Given the description of an element on the screen output the (x, y) to click on. 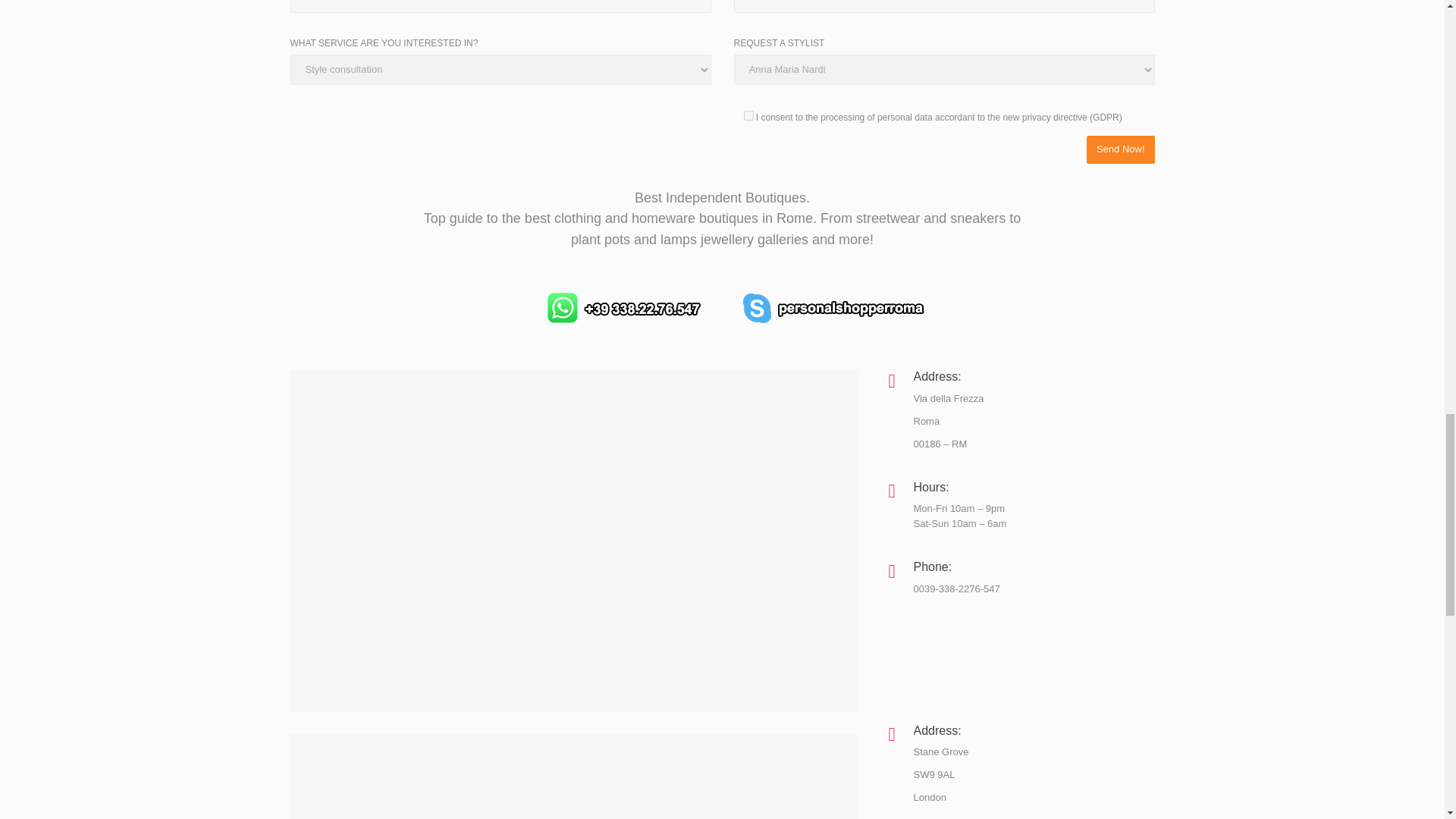
Send Now! (1120, 149)
1 (747, 115)
Send Now! (1120, 149)
